Given the description of an element on the screen output the (x, y) to click on. 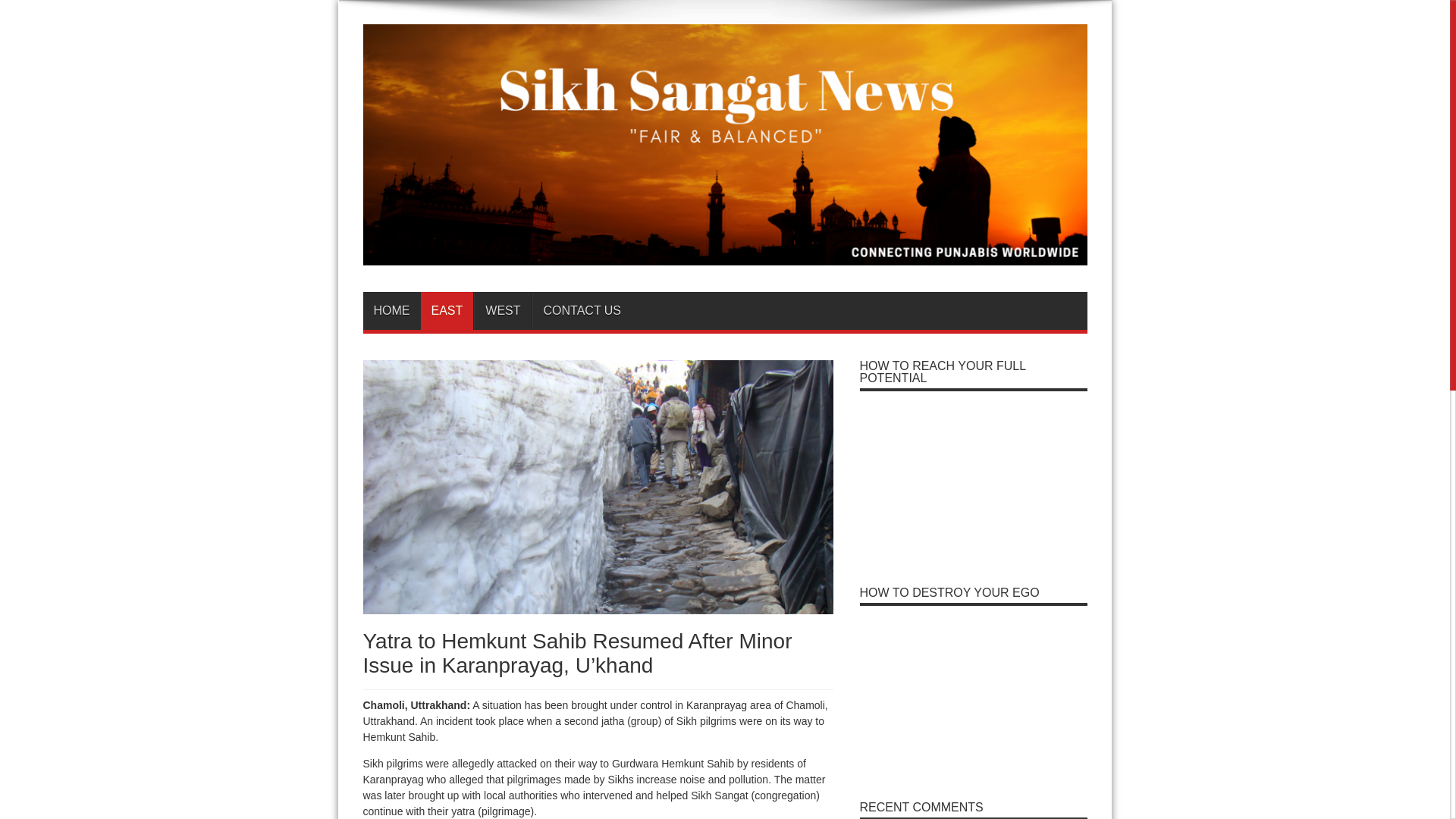
Sikh Sangat News (724, 253)
